Given the description of an element on the screen output the (x, y) to click on. 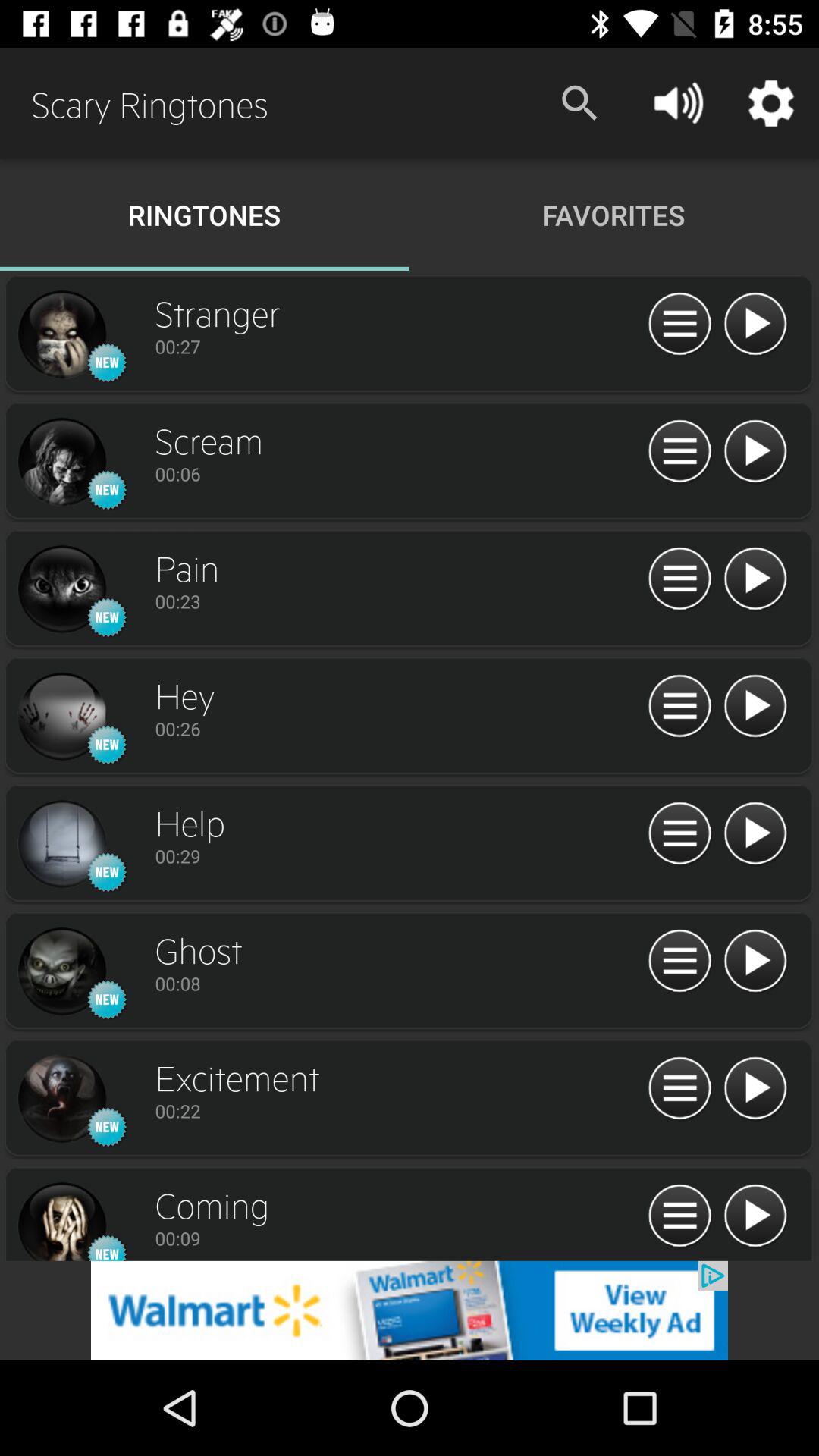
select the play button (755, 706)
